Given the description of an element on the screen output the (x, y) to click on. 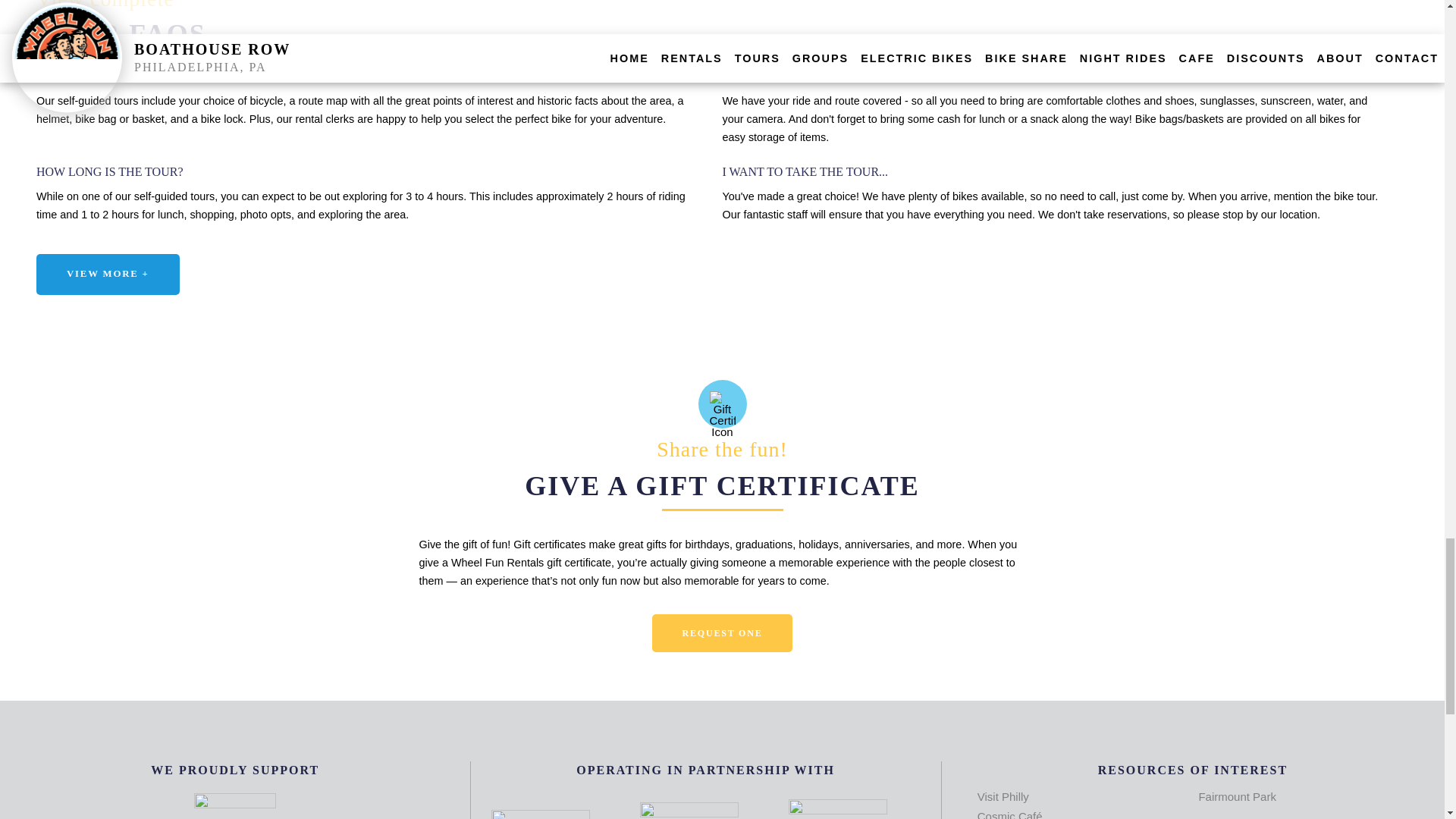
Visit Philly (1002, 796)
REQUEST ONE (722, 632)
